Given the description of an element on the screen output the (x, y) to click on. 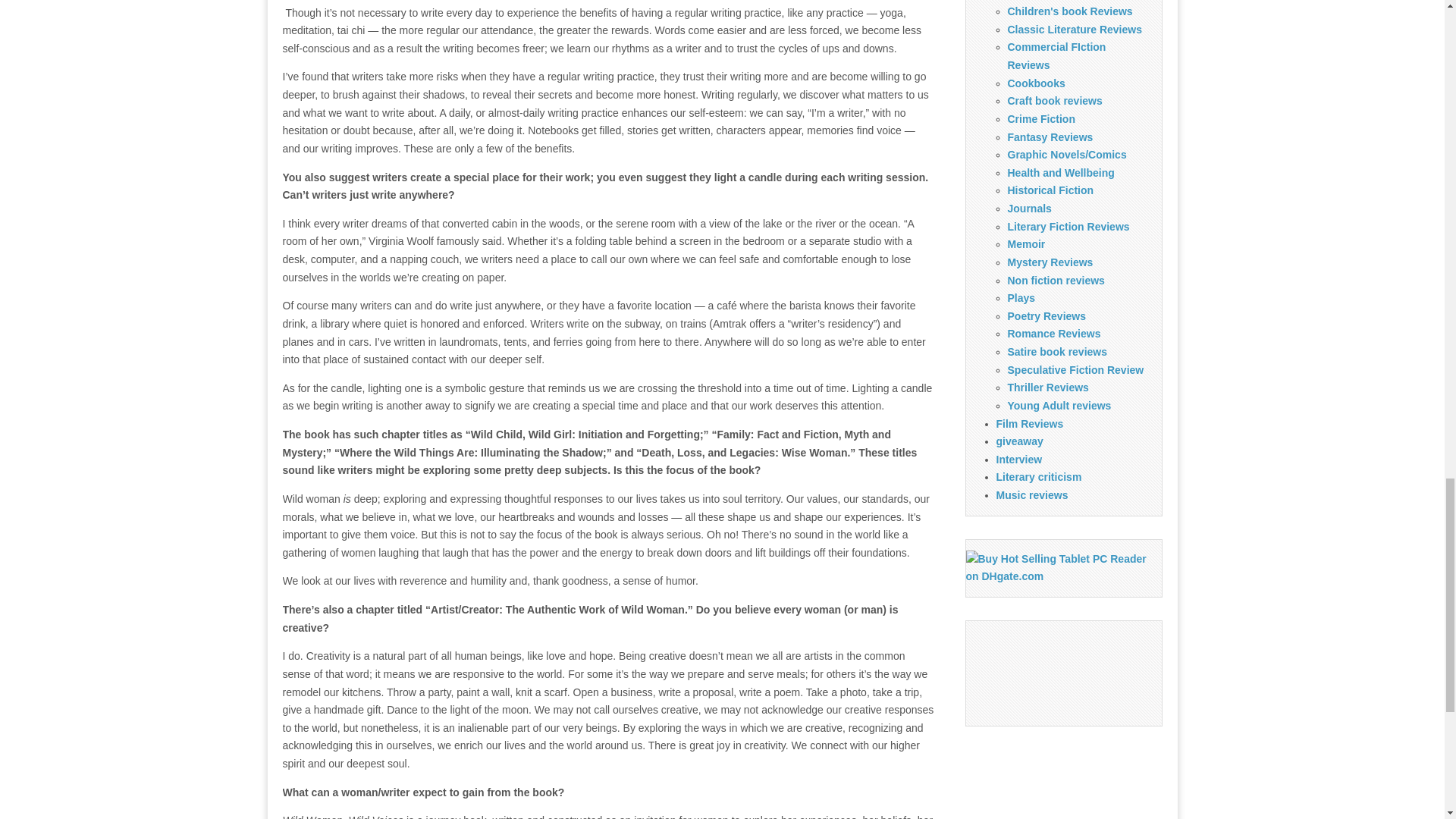
Classic Literature Reviews (1074, 29)
Crime Fiction (1040, 119)
Cookbooks (1035, 82)
Fantasy Reviews (1050, 137)
Commercial FIction Reviews (1056, 55)
Craft book reviews (1054, 101)
Children's book Reviews (1069, 10)
